Given the description of an element on the screen output the (x, y) to click on. 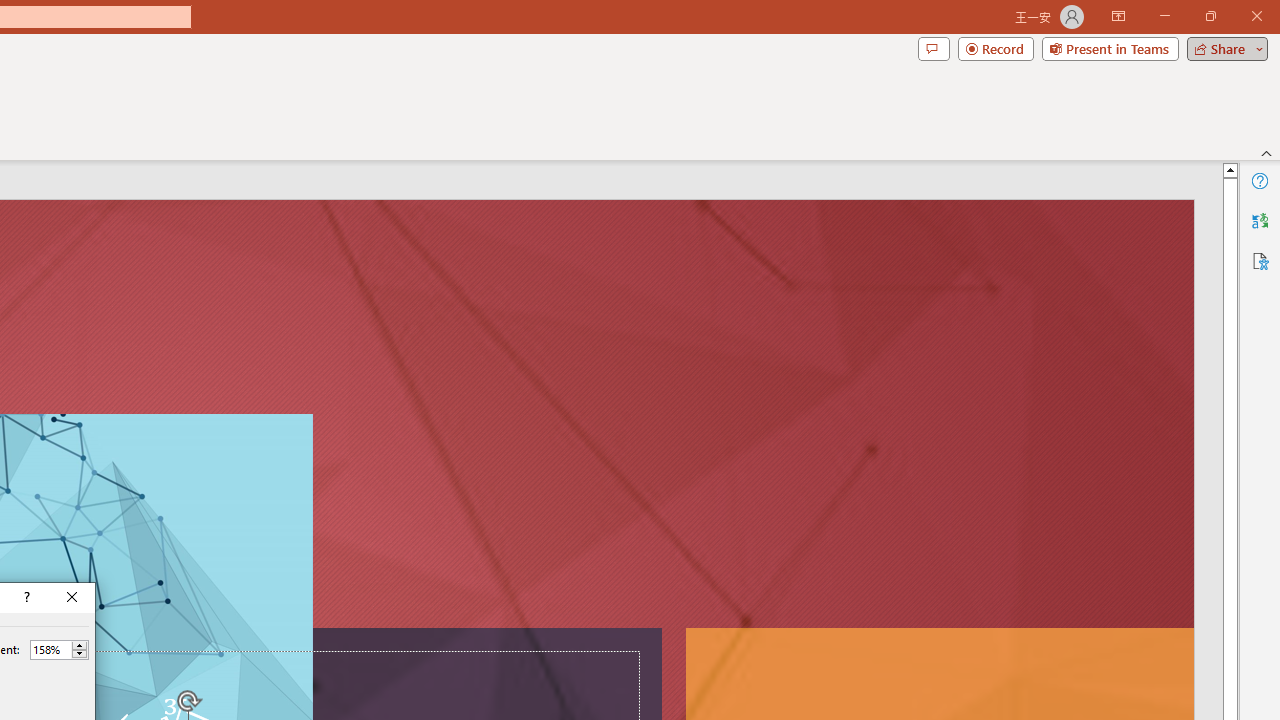
More (79, 645)
Less (79, 654)
Percent (50, 649)
Percent (59, 650)
Translator (1260, 220)
Accessibility (1260, 260)
